Given the description of an element on the screen output the (x, y) to click on. 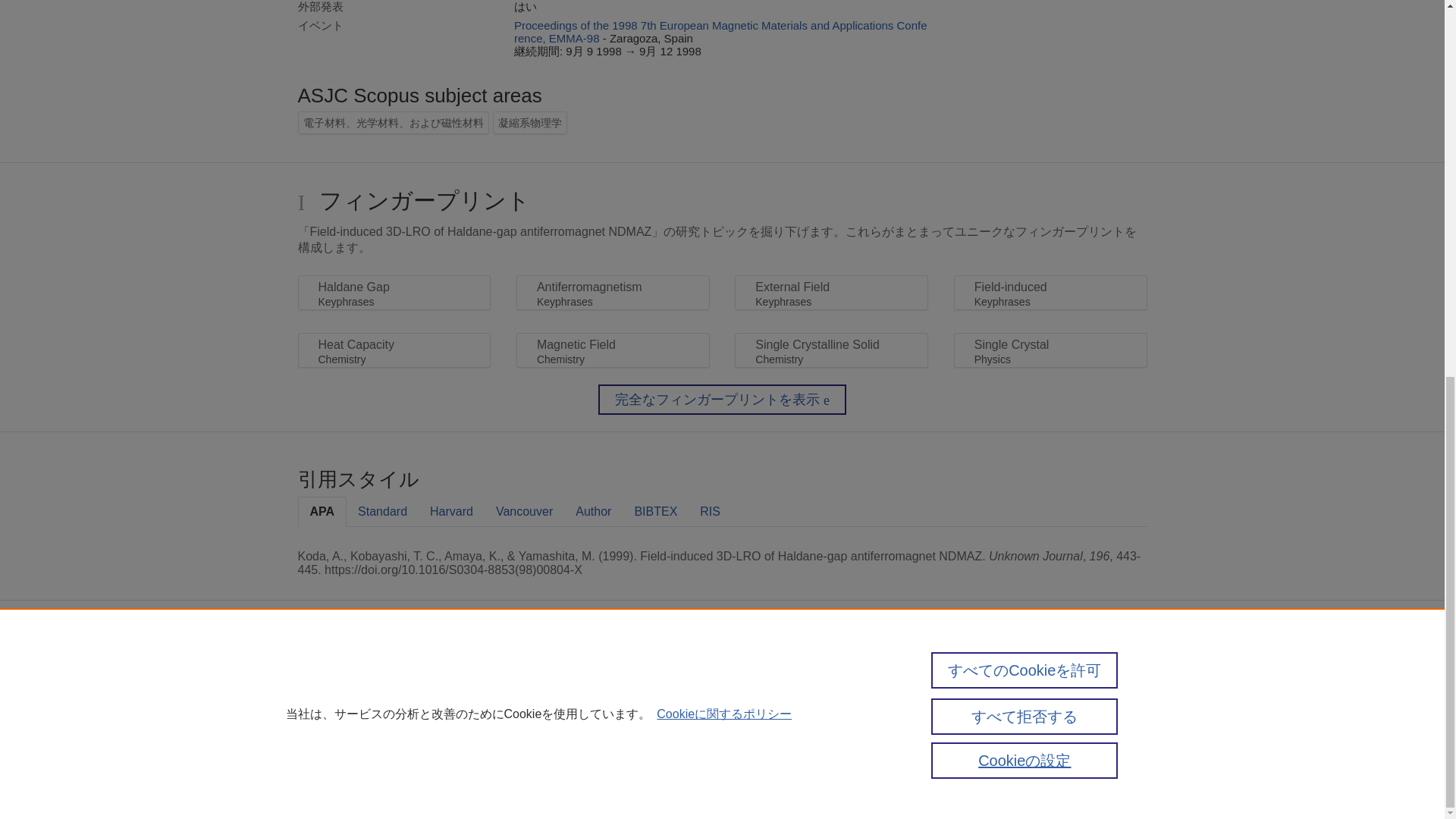
Scopus (362, 676)
Pure (330, 676)
Elsevier B.V. (545, 699)
